Given the description of an element on the screen output the (x, y) to click on. 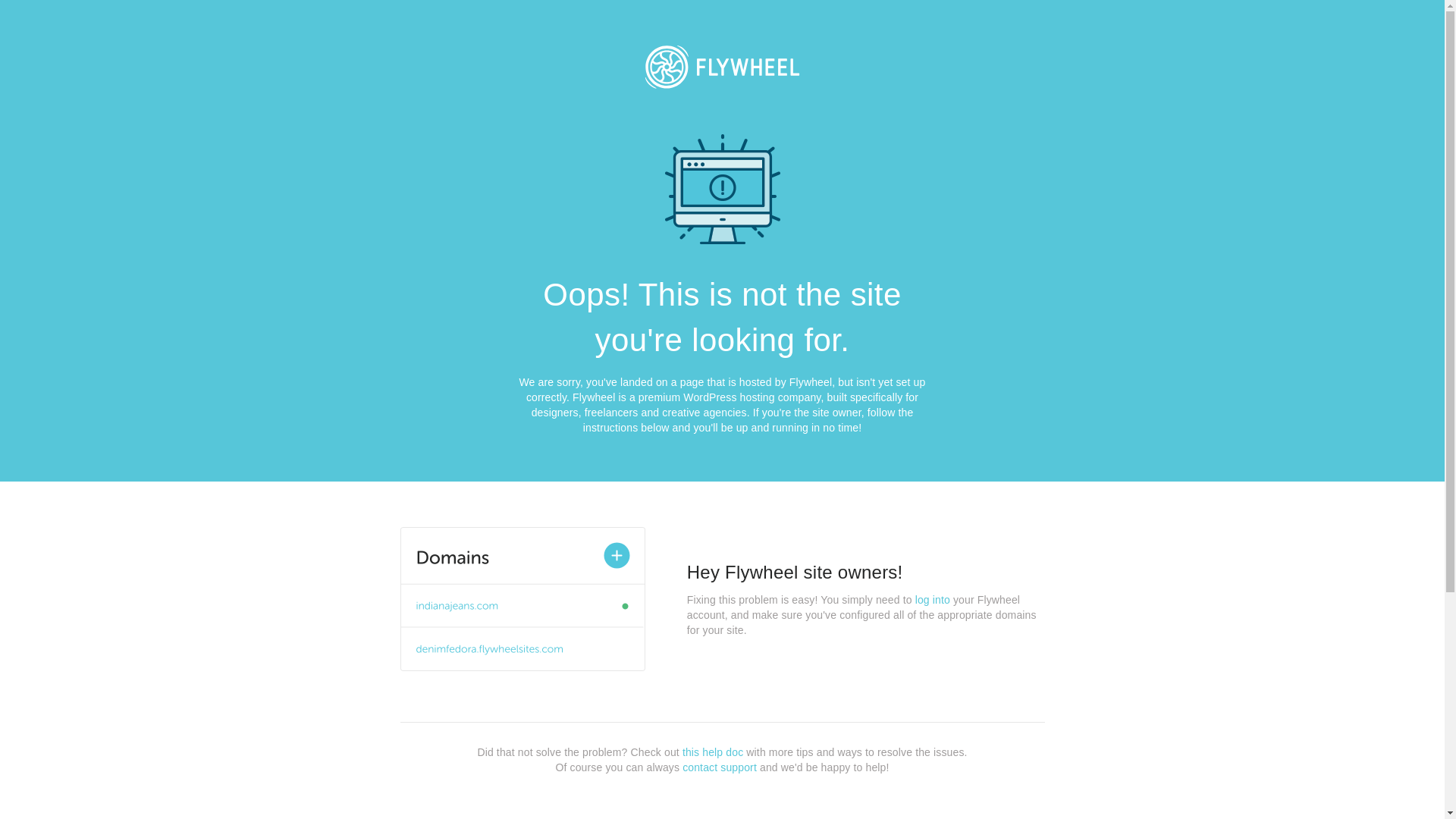
this help doc Element type: text (712, 752)
contact support Element type: text (719, 767)
log into Element type: text (932, 599)
